Given the description of an element on the screen output the (x, y) to click on. 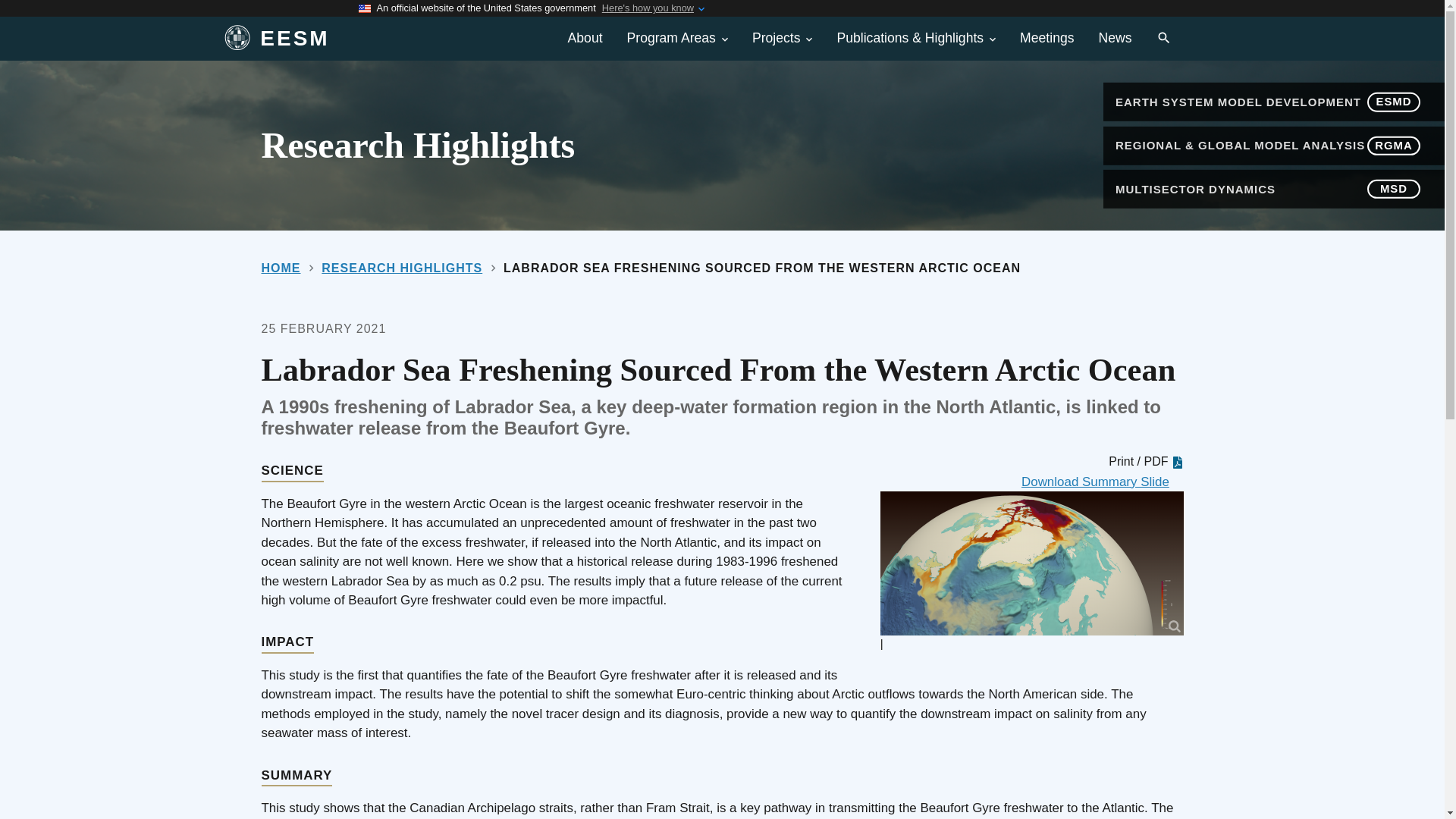
News (1114, 38)
Program Areas (676, 38)
Meetings (1046, 38)
EESM (374, 38)
Download Summary Slide (1102, 481)
Projects (782, 38)
Here's how you know (648, 8)
About (585, 38)
RESEARCH HIGHLIGHTS (401, 267)
HOME (279, 267)
